Given the description of an element on the screen output the (x, y) to click on. 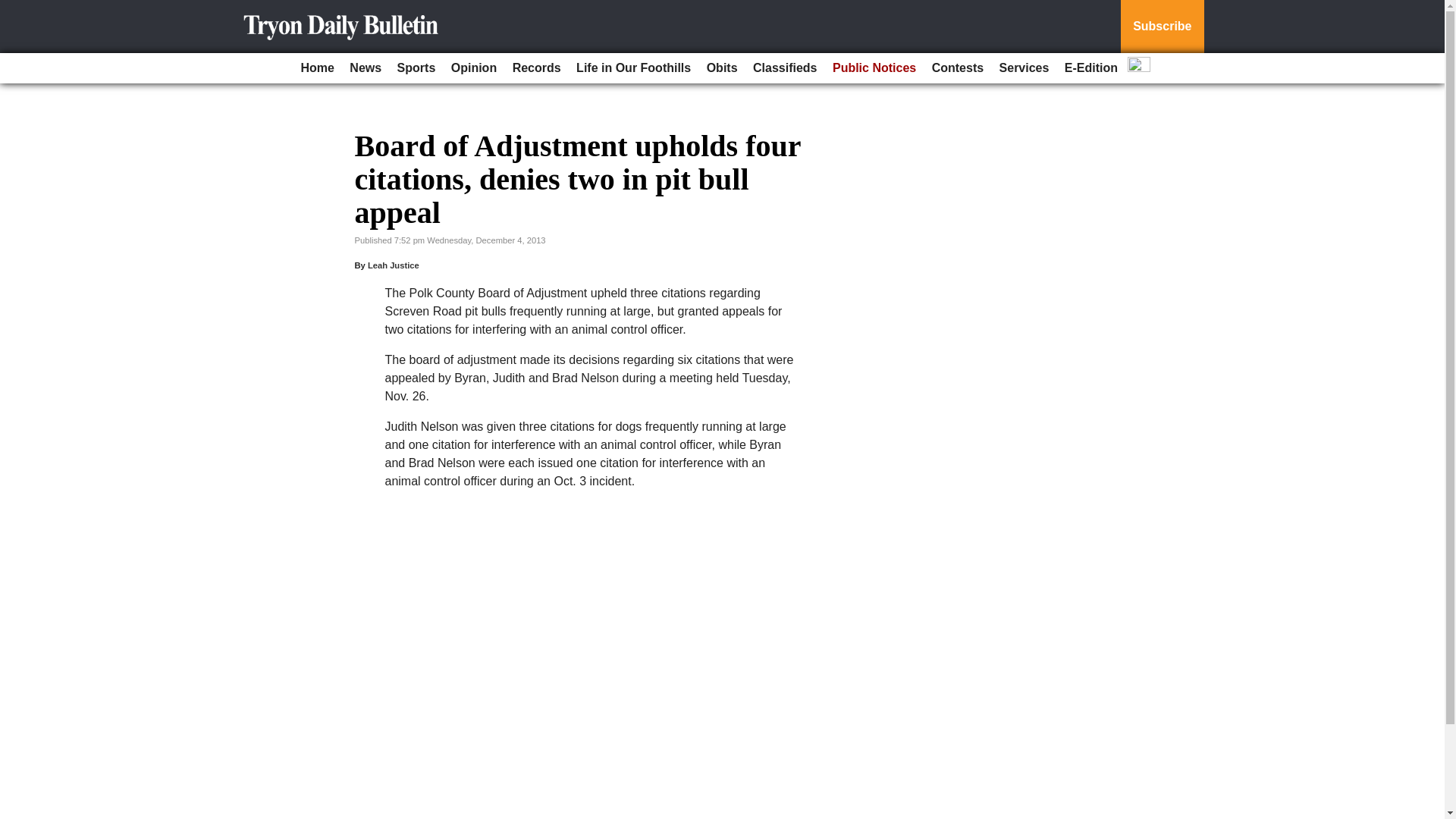
Leah Justice (393, 265)
E-Edition (1091, 68)
Contests (958, 68)
Public Notices (874, 68)
Obits (722, 68)
Opinion (473, 68)
Services (1023, 68)
Go (13, 9)
Sports (416, 68)
Classifieds (784, 68)
